Given the description of an element on the screen output the (x, y) to click on. 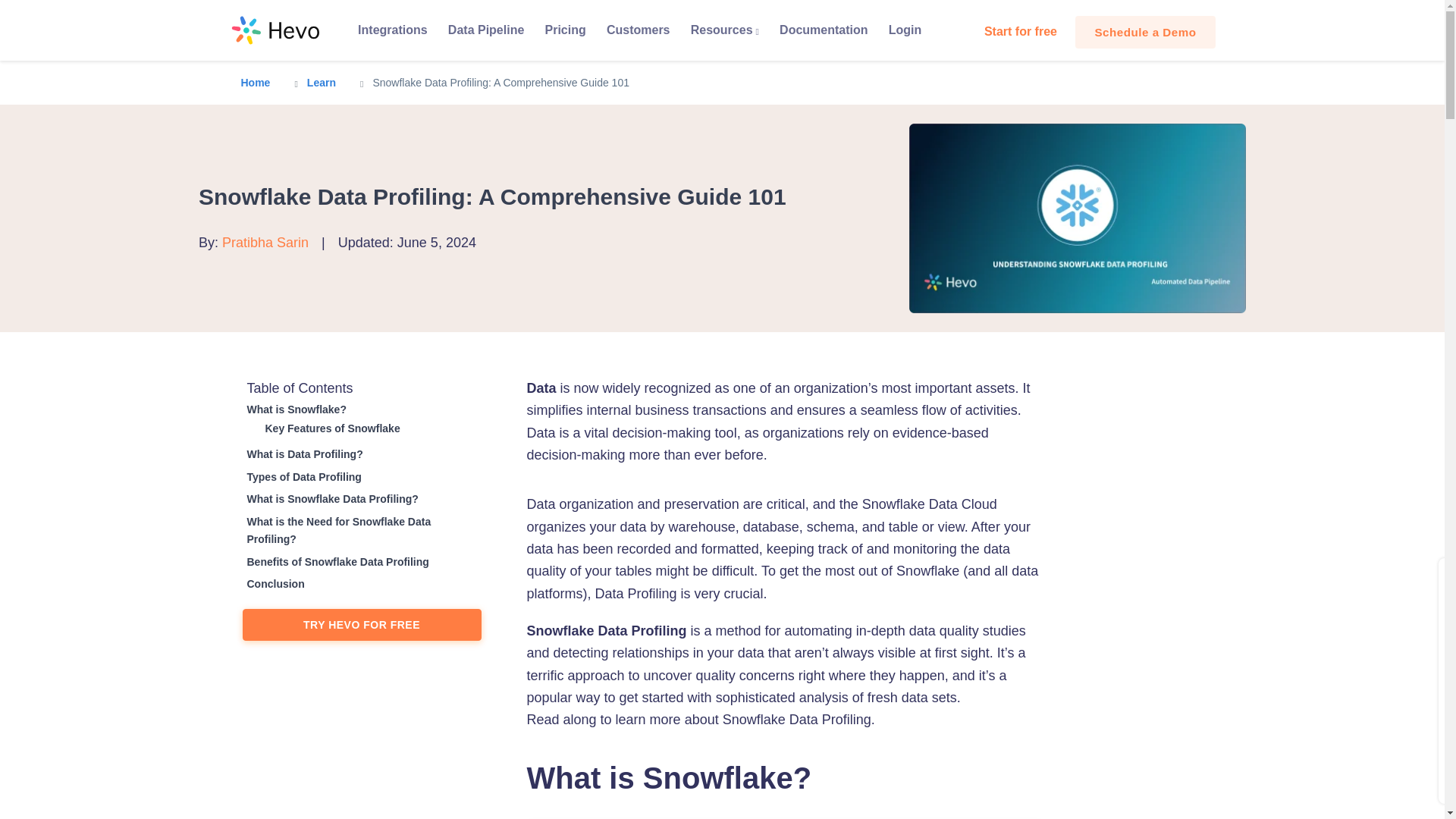
Schedule a Demo (1144, 31)
Key Features of Snowflake (330, 428)
Learn (321, 82)
Integrations (391, 30)
Conclusion (273, 583)
What is Snowflake Data Profiling? (331, 498)
Documentation (824, 30)
Benefits of Snowflake Data Profiling (336, 561)
What is Snowflake Data Profiling? (331, 498)
 Pratibha Sarin  (265, 242)
Schedule a Demo (1144, 31)
What is Snowflake? (294, 409)
Types of Data Profiling (302, 477)
What is Data Profiling? (302, 454)
Types of Data Profiling (302, 477)
